Given the description of an element on the screen output the (x, y) to click on. 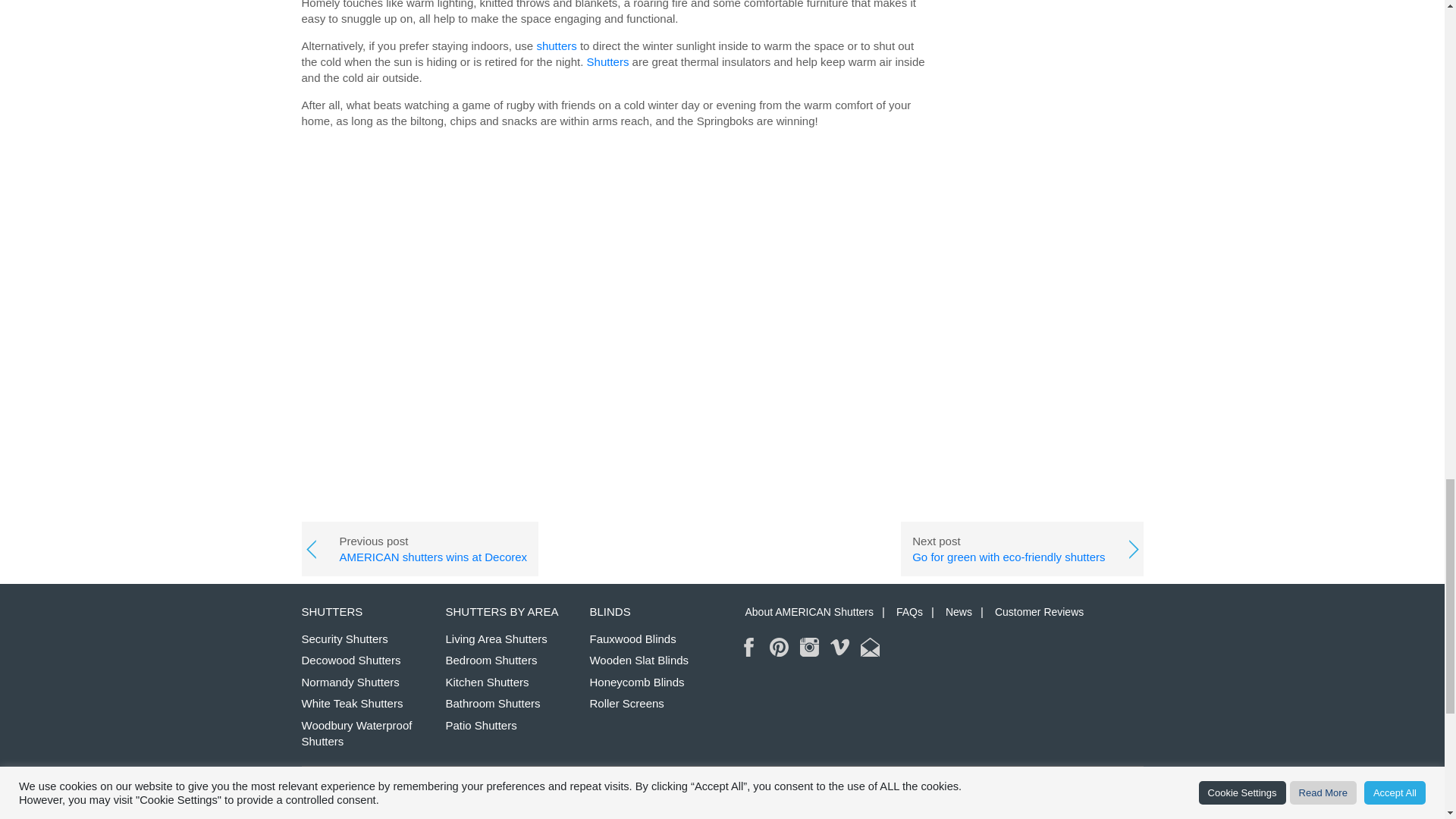
Contact American Shutters (869, 647)
American Shutters on Vimeo (838, 647)
American Shutters on Instagram (808, 647)
American Shutters on Facebook (748, 647)
American Shutters on Pinterest (779, 647)
